Given the description of an element on the screen output the (x, y) to click on. 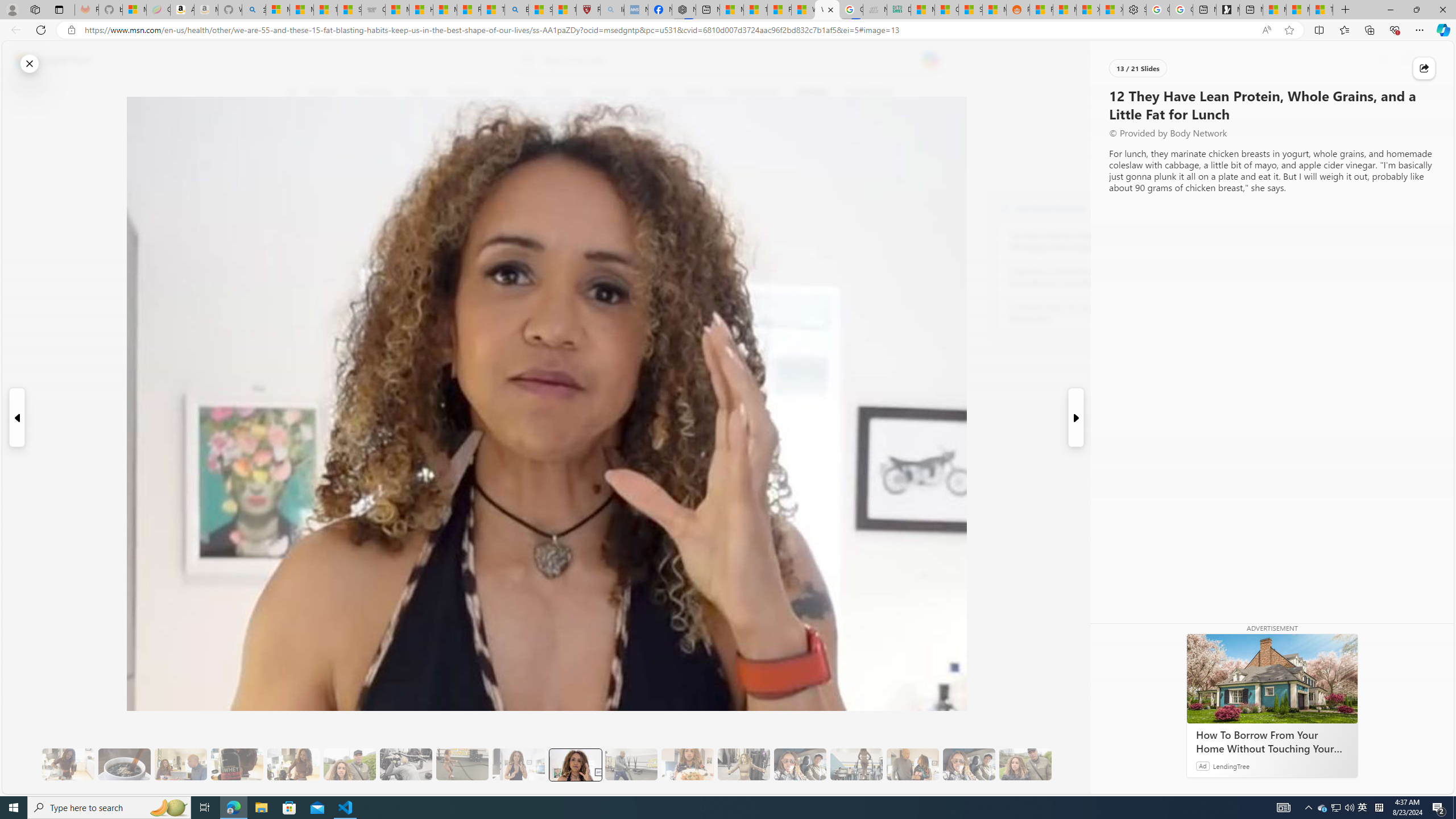
Technology (609, 92)
5 She Eats Less Than Her Husband (180, 764)
Crime (657, 92)
15 They Also Indulge in a Low-Calorie Sweet Treat (743, 764)
5 She Eats Less Than Her Husband (180, 764)
18 It's More Fun Doing It with Someone Else (912, 764)
7 They Don't Skip Meals (293, 764)
News (419, 92)
